Given the description of an element on the screen output the (x, y) to click on. 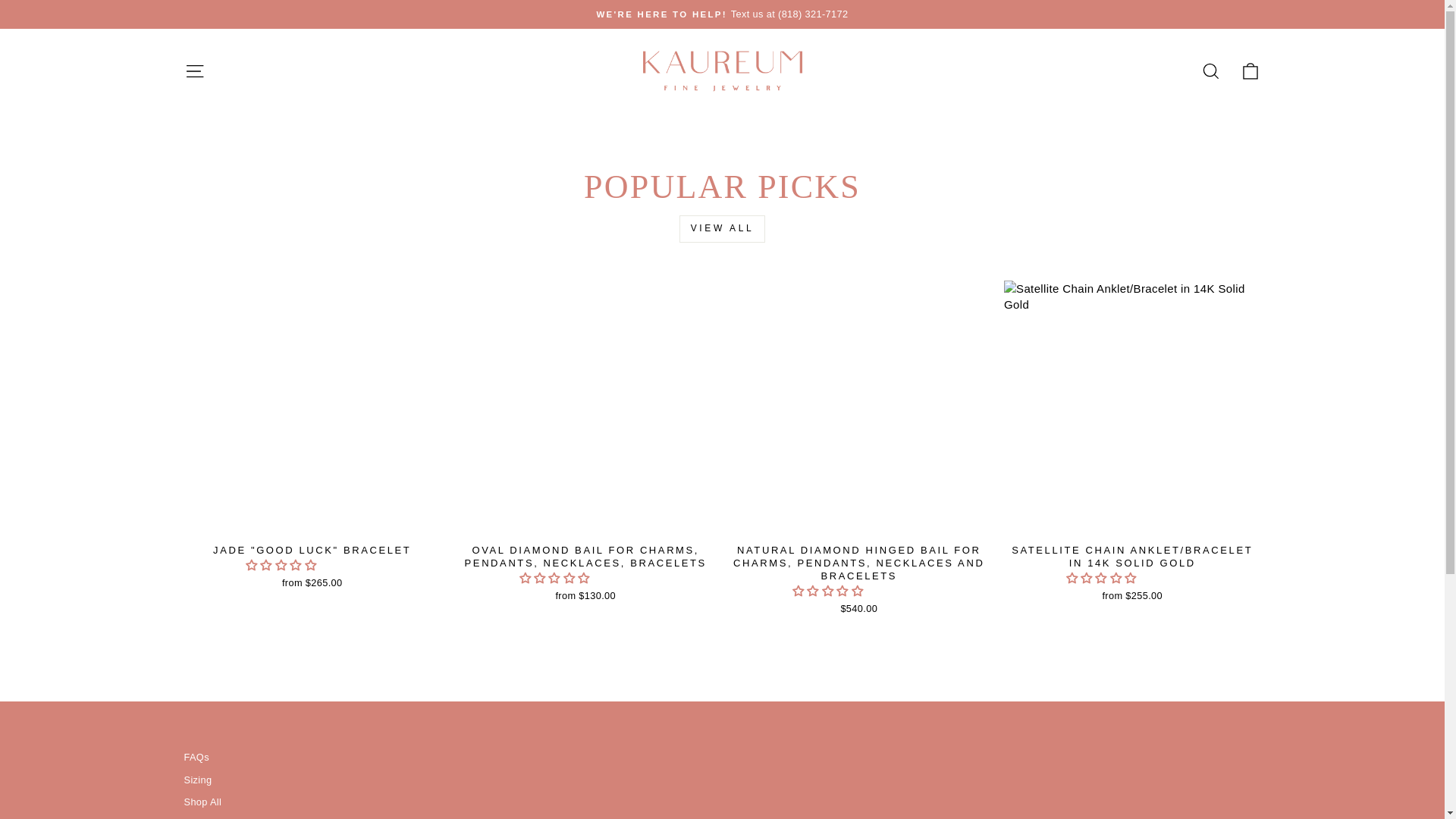
SITE NAVIGATION (194, 71)
VIEW ALL (722, 228)
CART (1249, 71)
SEARCH (1210, 71)
